Given the description of an element on the screen output the (x, y) to click on. 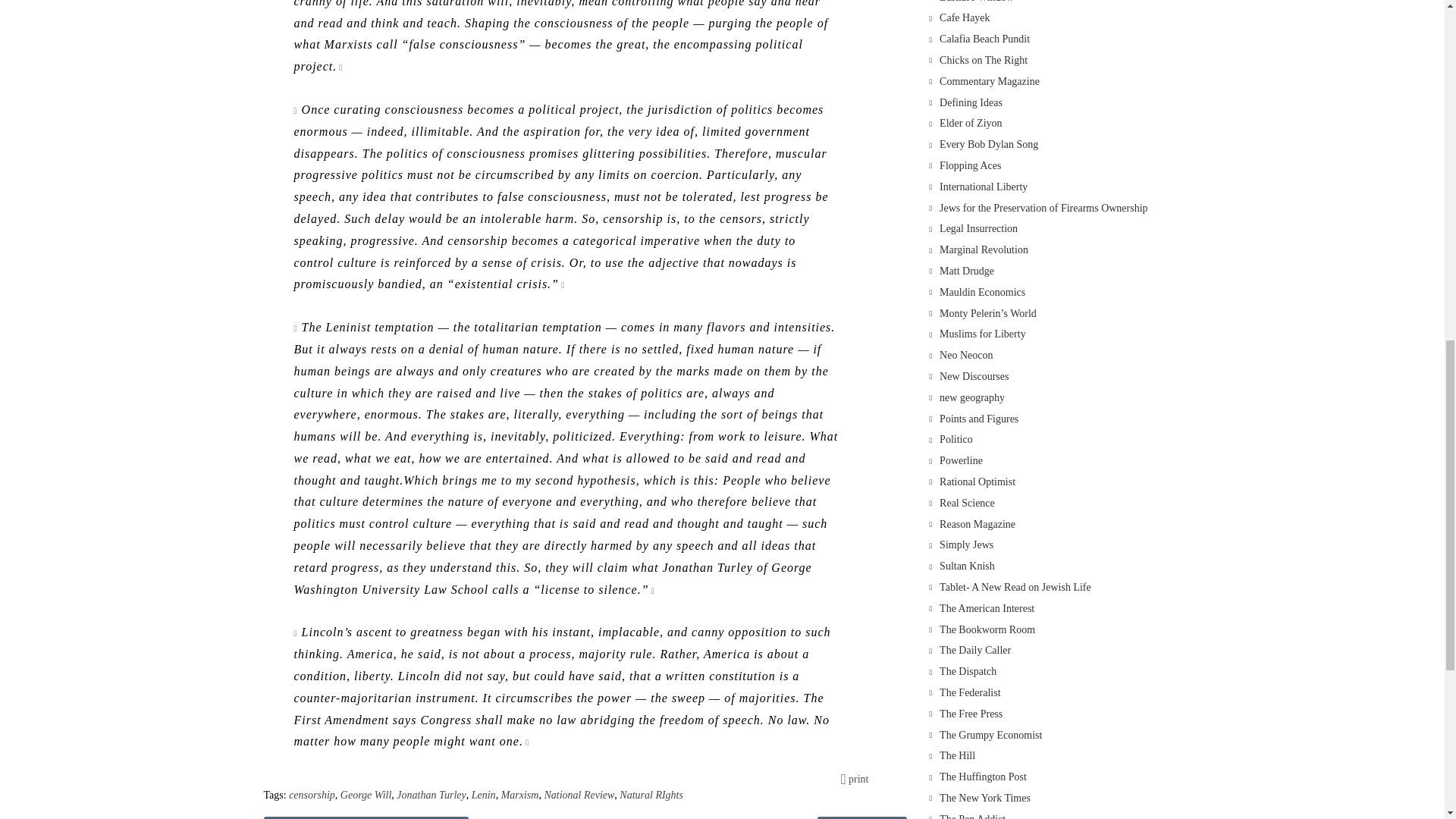
Economics (984, 39)
